Given the description of an element on the screen output the (x, y) to click on. 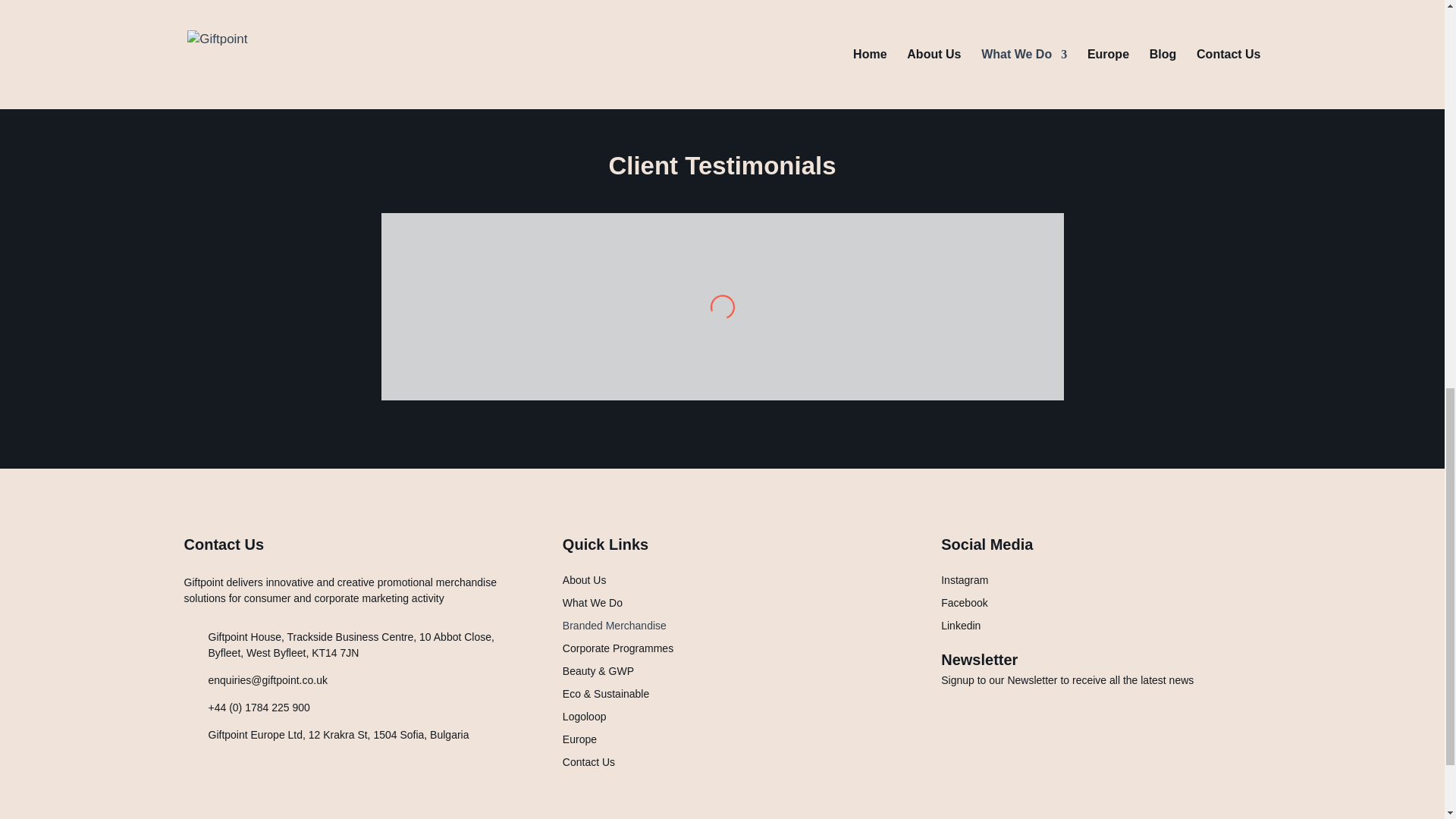
Branded Merchandise (614, 628)
Instagram (964, 582)
What We Do (592, 605)
Notebook and Pens (1039, 37)
About Us (584, 582)
Facebook (963, 605)
Homepride Measuring Spoons (387, 37)
Europe (579, 742)
Contact Us (588, 764)
Linkedin (959, 628)
